Given the description of an element on the screen output the (x, y) to click on. 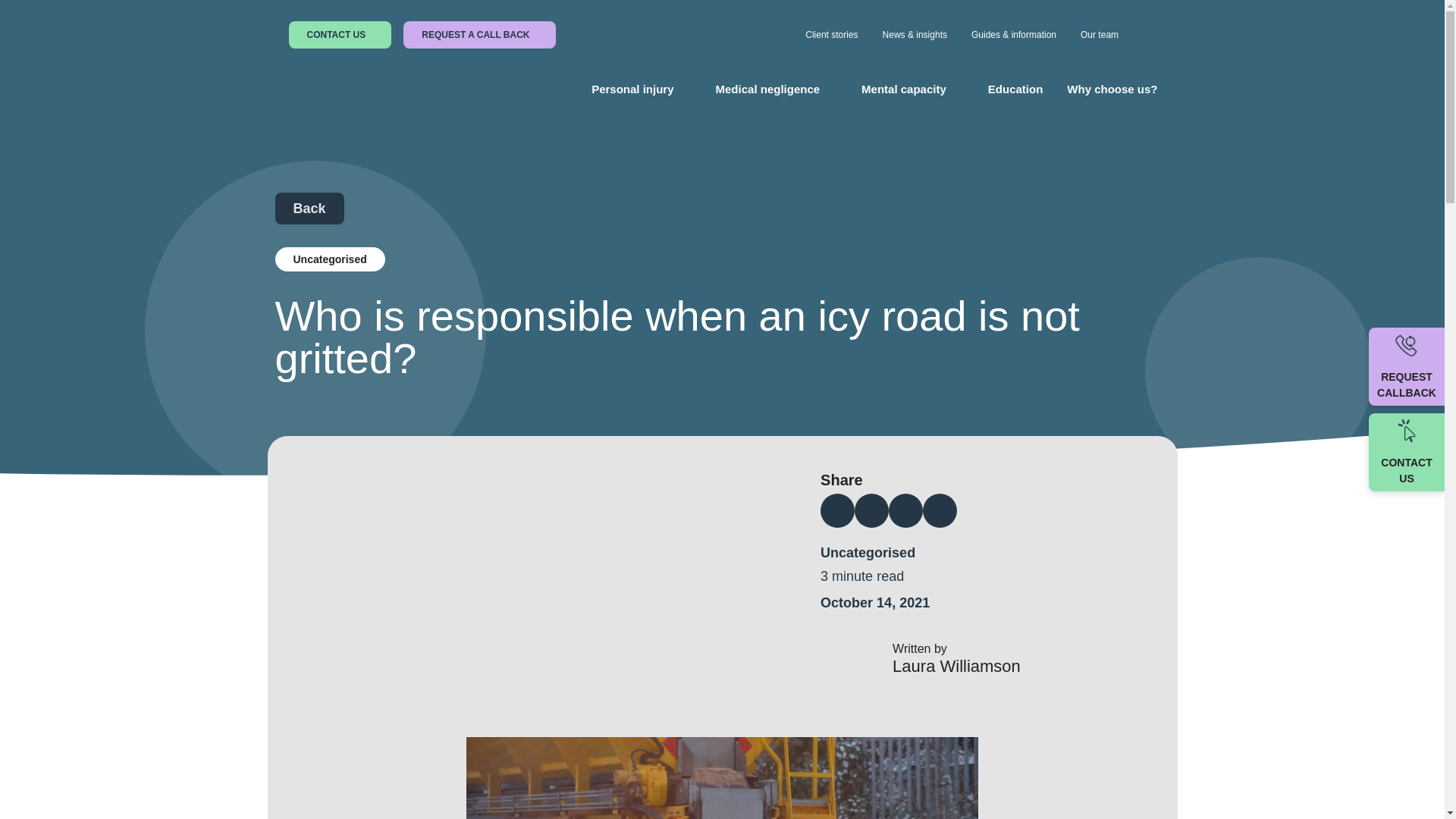
Our team (1099, 34)
REQUEST A CALL BACK (478, 34)
CONTACT US (339, 34)
Personal injury (631, 89)
Client stories (831, 34)
